Given the description of an element on the screen output the (x, y) to click on. 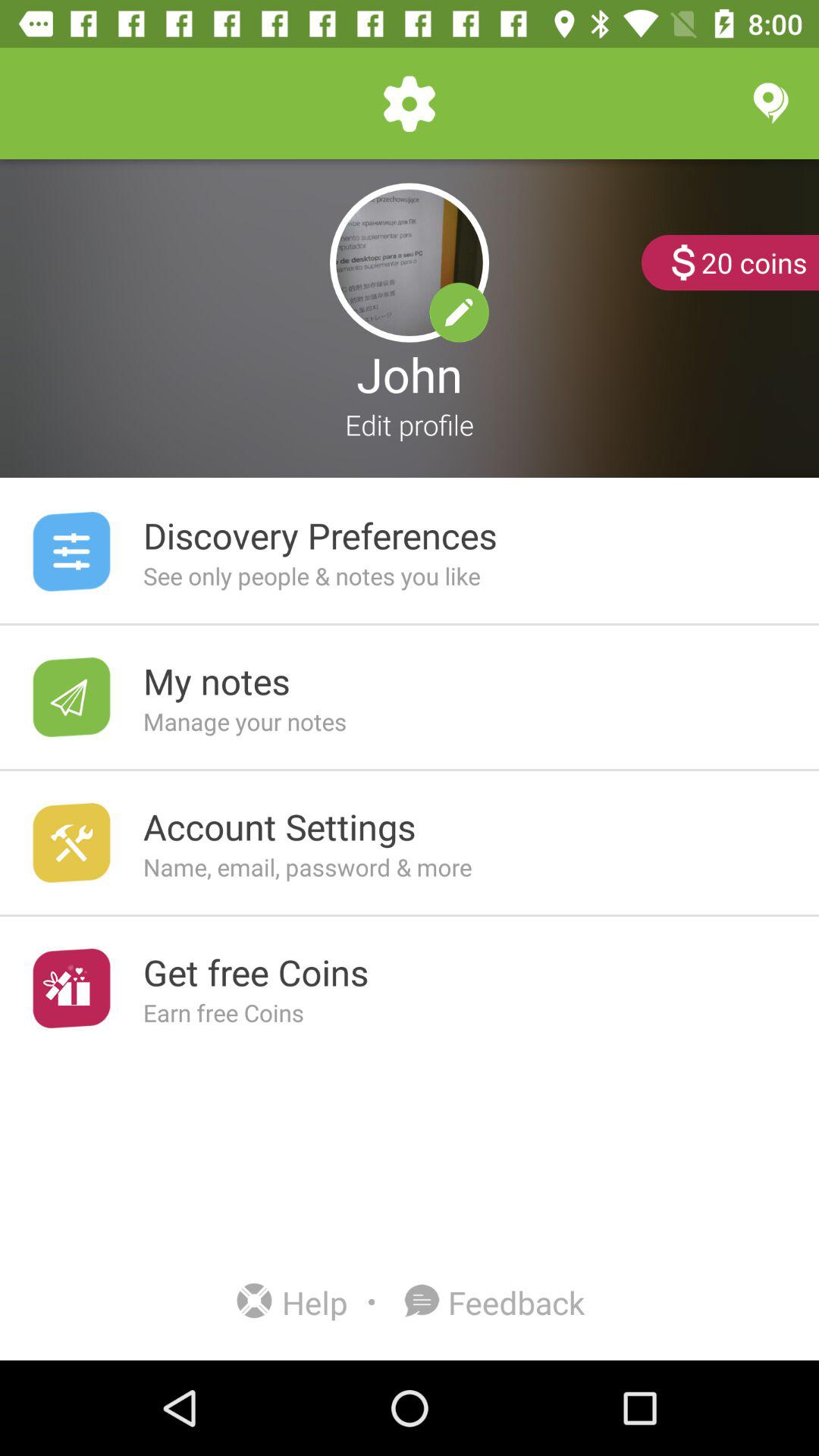
click on the settings option (409, 103)
click on the profile picture at the top (409, 262)
click on the dollar sign option (683, 262)
